Given the description of an element on the screen output the (x, y) to click on. 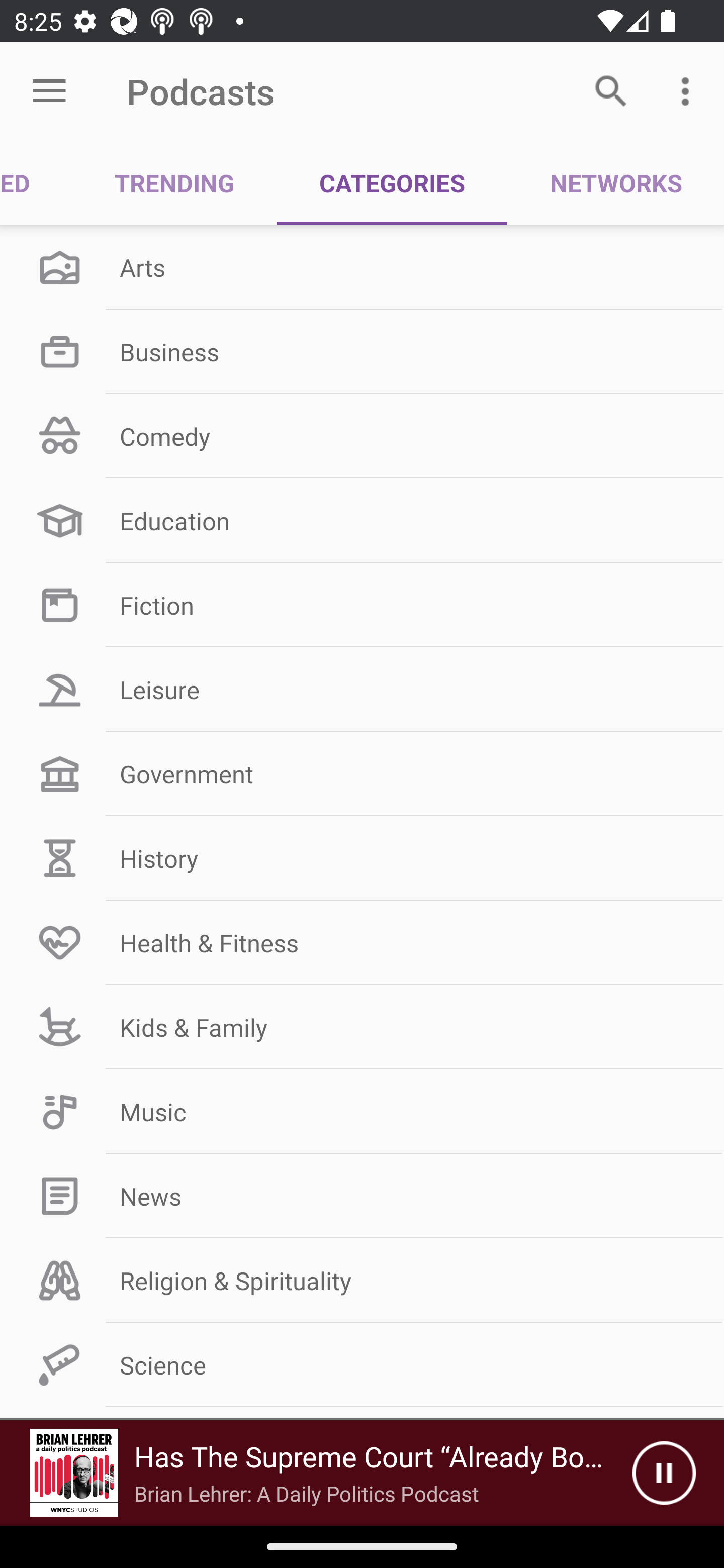
Open menu (49, 91)
Search (611, 90)
More options (688, 90)
TRENDING (174, 183)
CATEGORIES (391, 183)
NETWORKS (615, 183)
Arts (362, 266)
Business (362, 350)
Comedy (362, 435)
Education (362, 520)
Fiction (362, 604)
Leisure (362, 689)
Government (362, 774)
History (362, 858)
Health & Fitness (362, 942)
Kids & Family (362, 1026)
Music (362, 1111)
News (362, 1196)
Religion & Spirituality (362, 1280)
Science (362, 1364)
Pause (663, 1472)
